Given the description of an element on the screen output the (x, y) to click on. 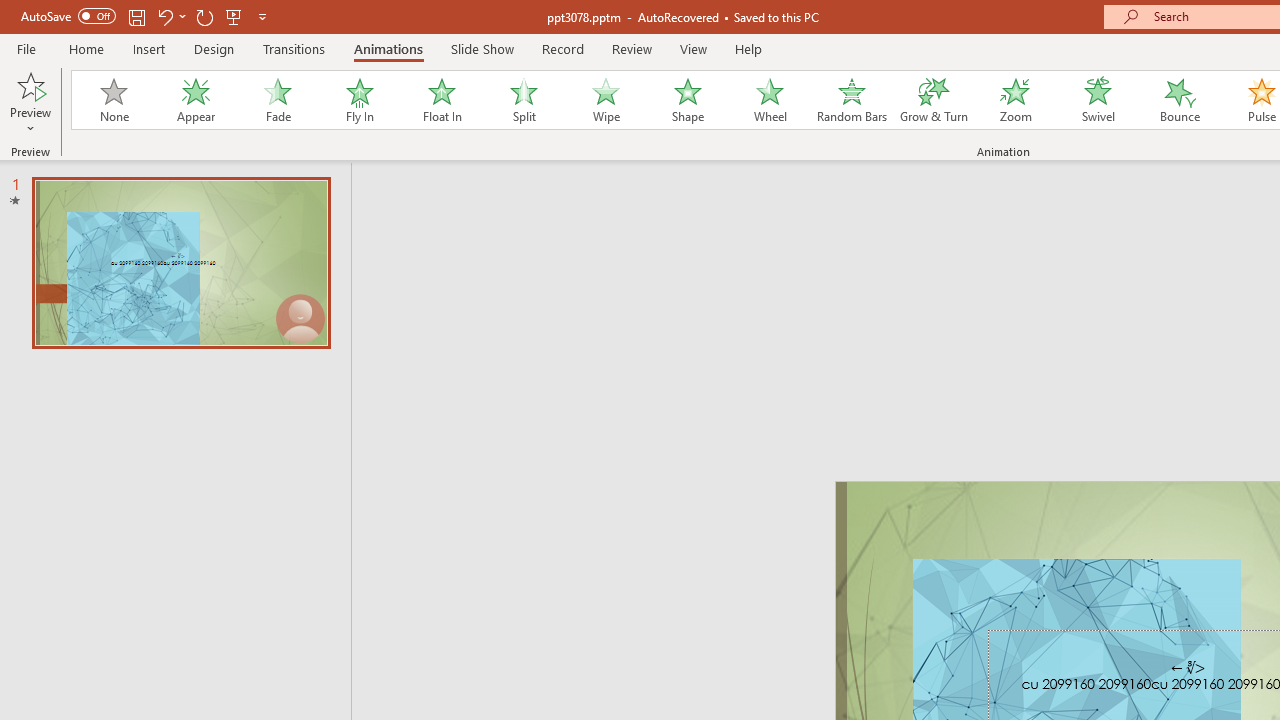
Split (523, 100)
Grow & Turn (934, 100)
Bounce (1180, 100)
Fade (277, 100)
